Given the description of an element on the screen output the (x, y) to click on. 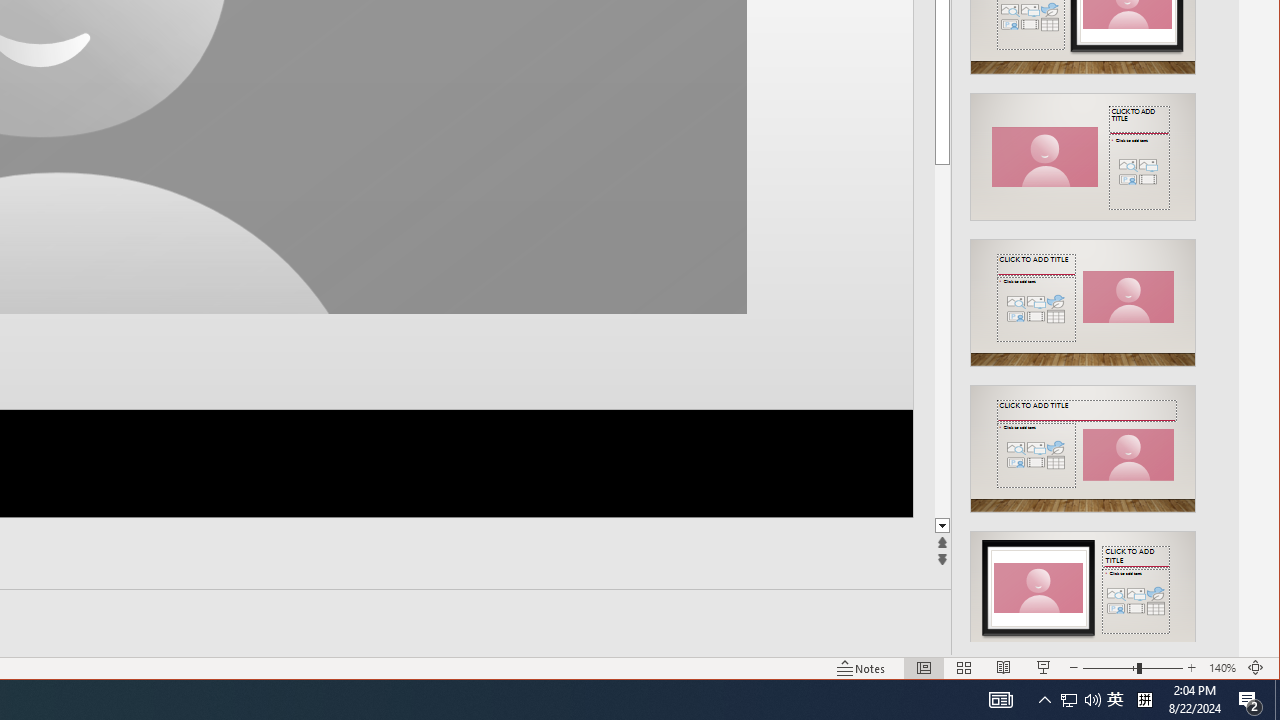
Line down (942, 525)
AutomationID: 4105 (1000, 699)
Zoom 140% (1222, 668)
Design Idea (1115, 699)
User Promoted Notification Area (1082, 588)
Q2790: 100% (1080, 699)
Action Center, 2 new notifications (1092, 699)
